Given the description of an element on the screen output the (x, y) to click on. 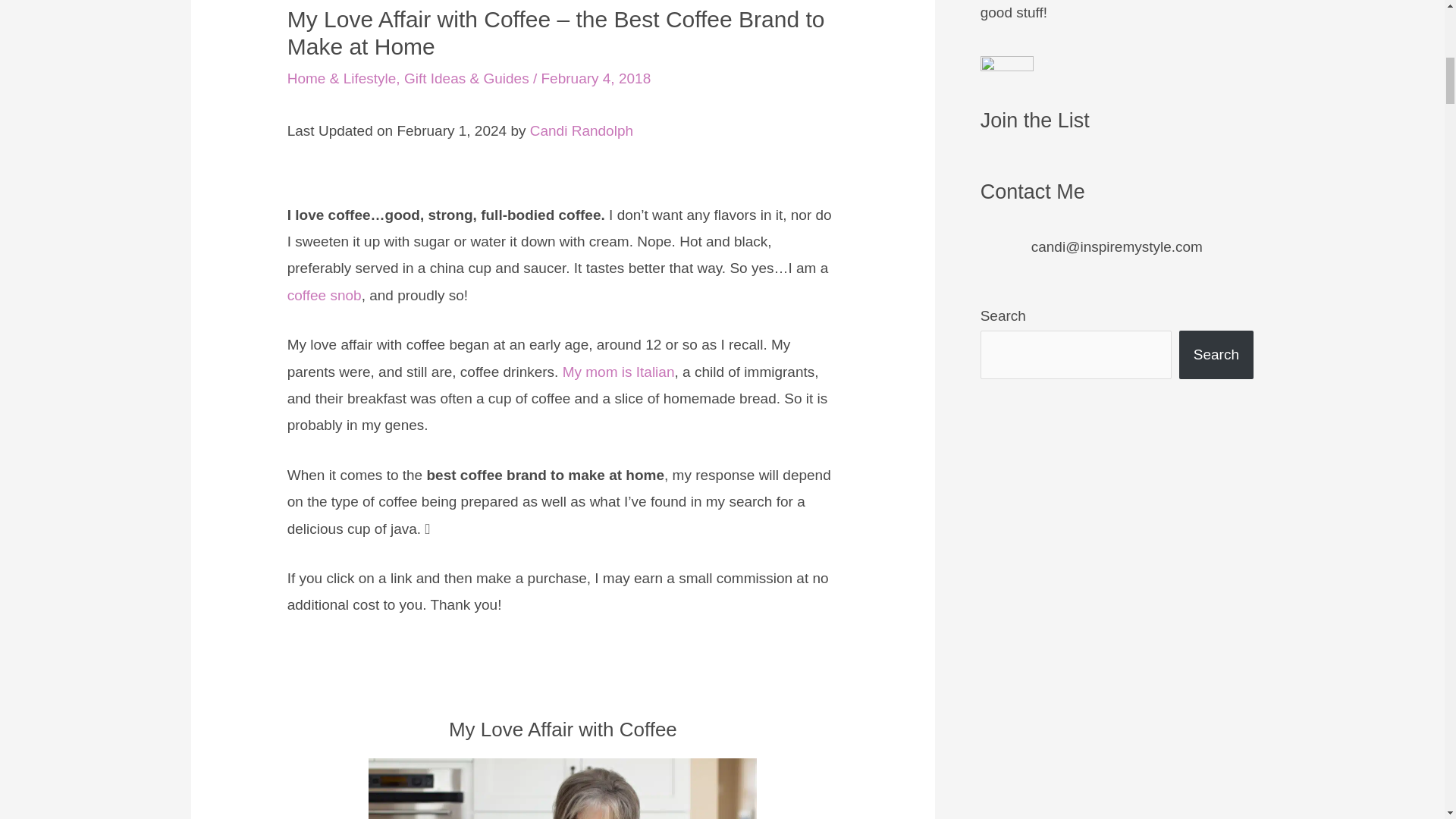
My mom is Italian (618, 371)
Candi Randolph (581, 130)
coffee snob (323, 295)
